Given the description of an element on the screen output the (x, y) to click on. 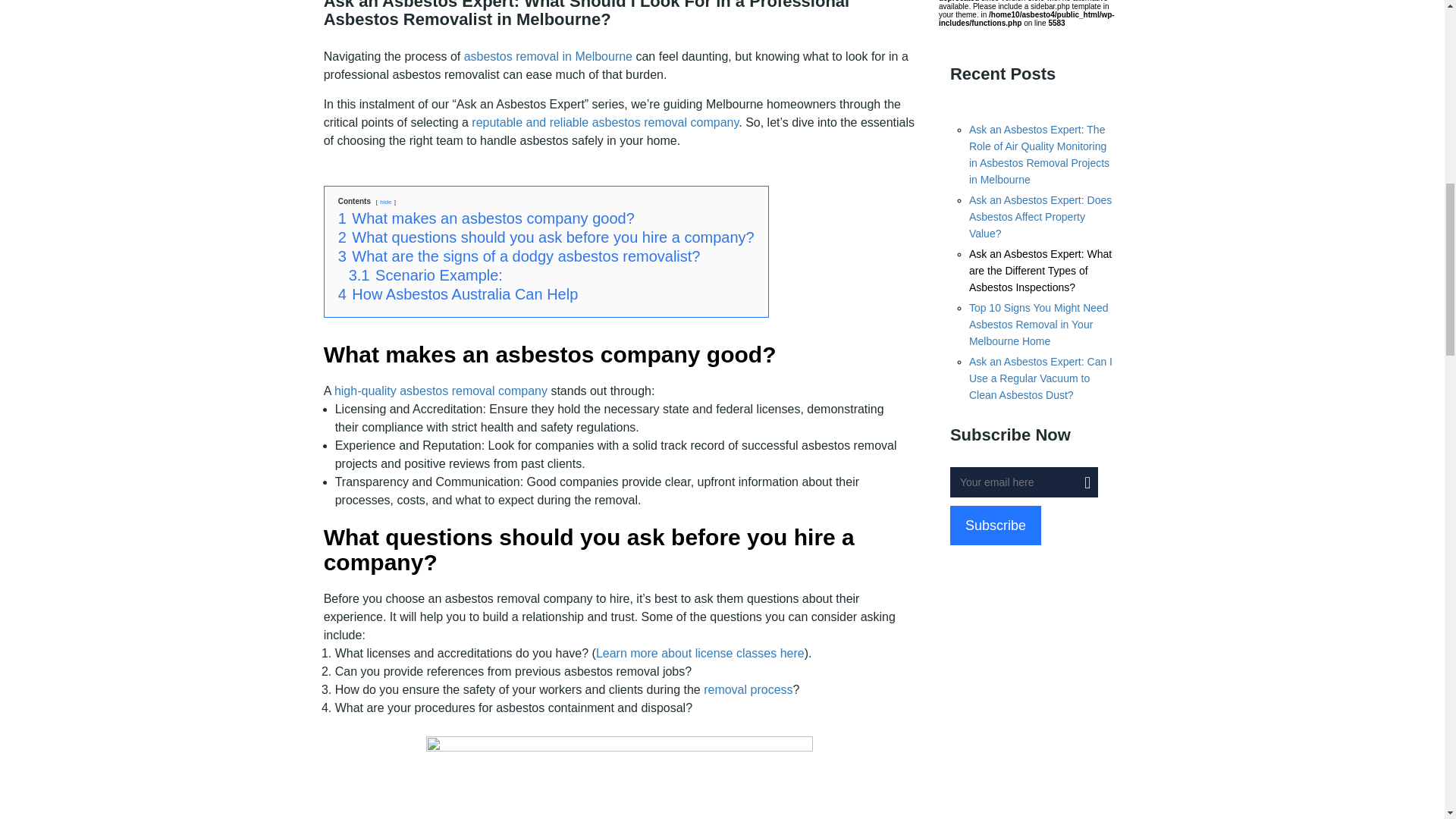
2 What questions should you ask before you hire a company? (545, 237)
4 How Asbestos Australia Can Help (457, 293)
reputable and reliable asbestos removal company (604, 122)
hide (385, 202)
Learn more about license classes here (700, 653)
3.1 Scenario Example: (425, 274)
Subscribe (995, 525)
high-quality asbestos removal company (440, 390)
1 What makes an asbestos company good? (485, 217)
asbestos removal in Melbourne (547, 56)
3 What are the signs of a dodgy asbestos removalist? (518, 256)
removal process (747, 689)
